Given the description of an element on the screen output the (x, y) to click on. 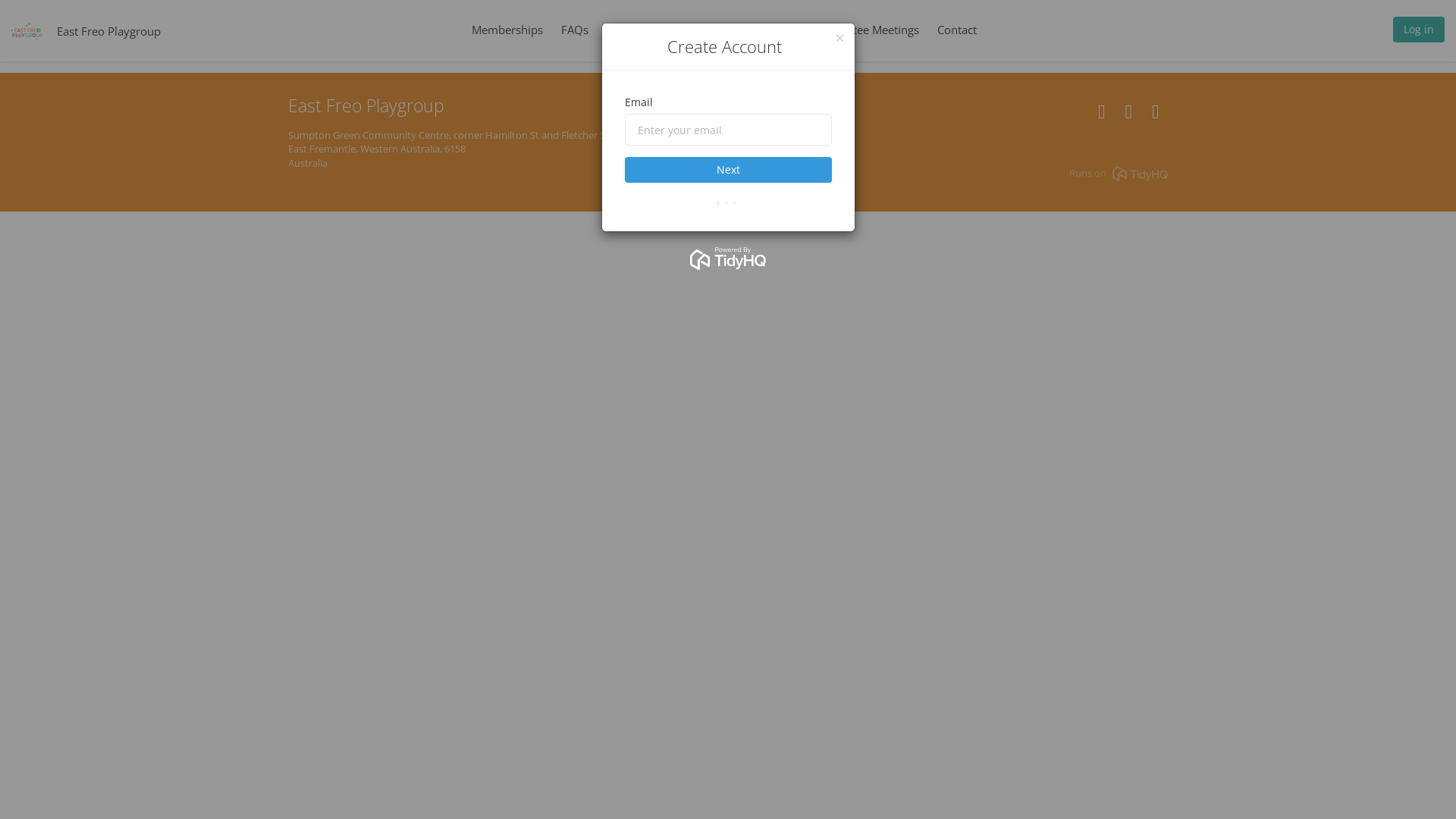
eastfreoplaygroup Element type: hover (1155, 114)
Memberships Element type: text (507, 29)
Testimonials Element type: text (759, 29)
Committee Meetings Element type: text (864, 29)
http://www.eastfreoplaygroup.org.au Element type: hover (1100, 114)
FAQs Element type: text (574, 29)
eastfreoplaygroup Element type: hover (1128, 114)
Log in Element type: text (1418, 32)
Events & Incursions Element type: text (657, 29)
Contact Element type: text (956, 29)
East Freo Playgroup Element type: text (108, 29)
